Given the description of an element on the screen output the (x, y) to click on. 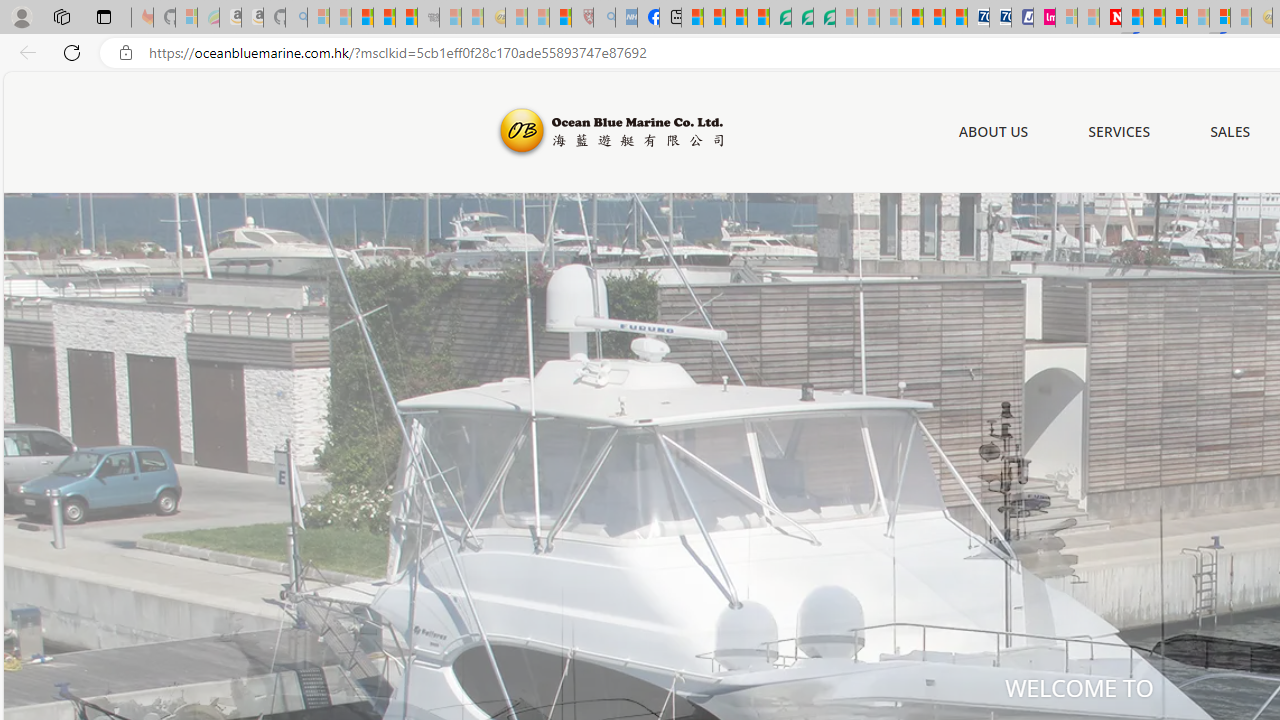
ABOUT US (993, 131)
Ocean Blue Marine (608, 132)
SERVICES (1119, 132)
Ocean Blue Marine (608, 132)
ABOUT US (993, 132)
